Given the description of an element on the screen output the (x, y) to click on. 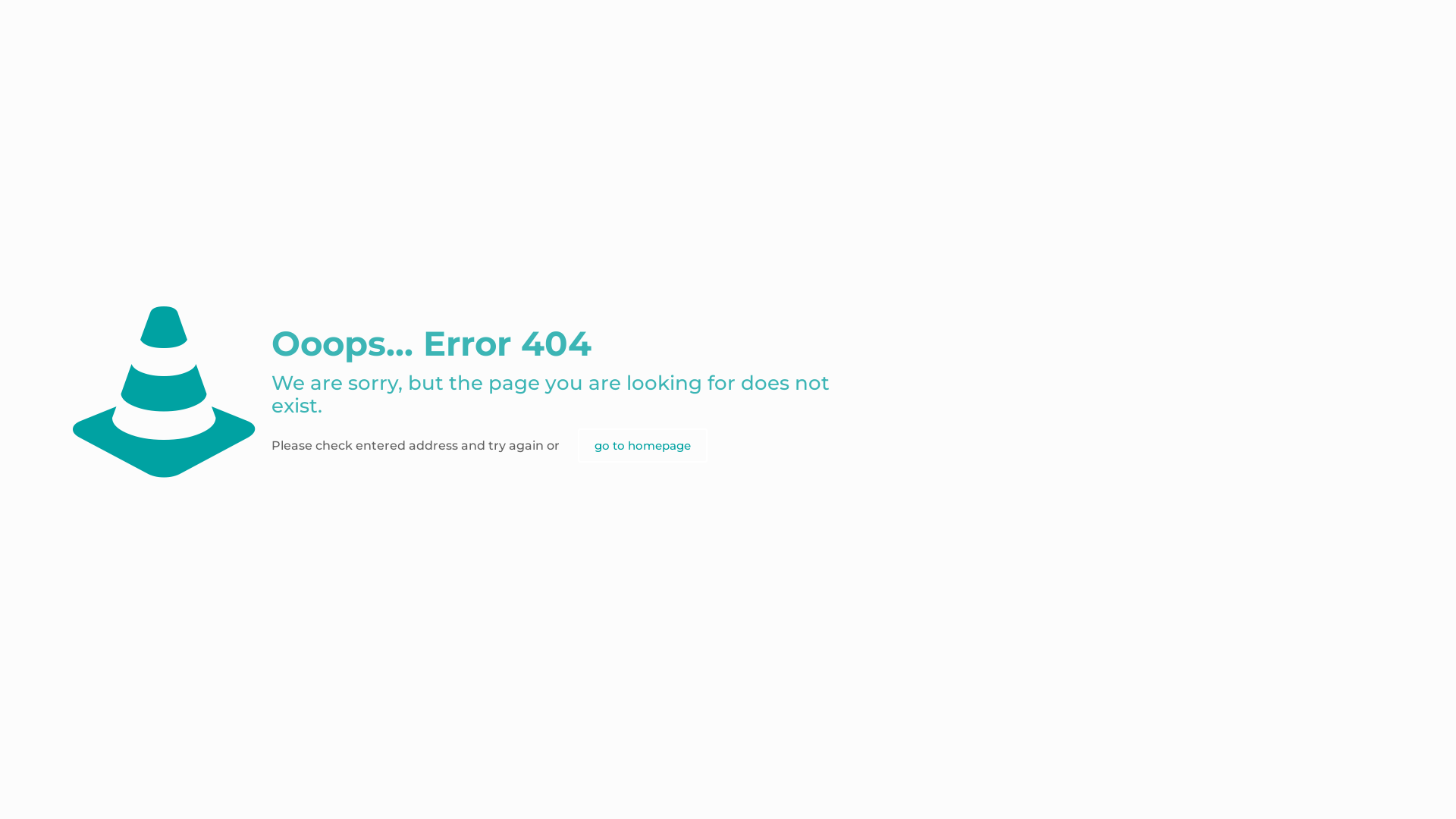
go to homepage Element type: text (642, 445)
